Given the description of an element on the screen output the (x, y) to click on. 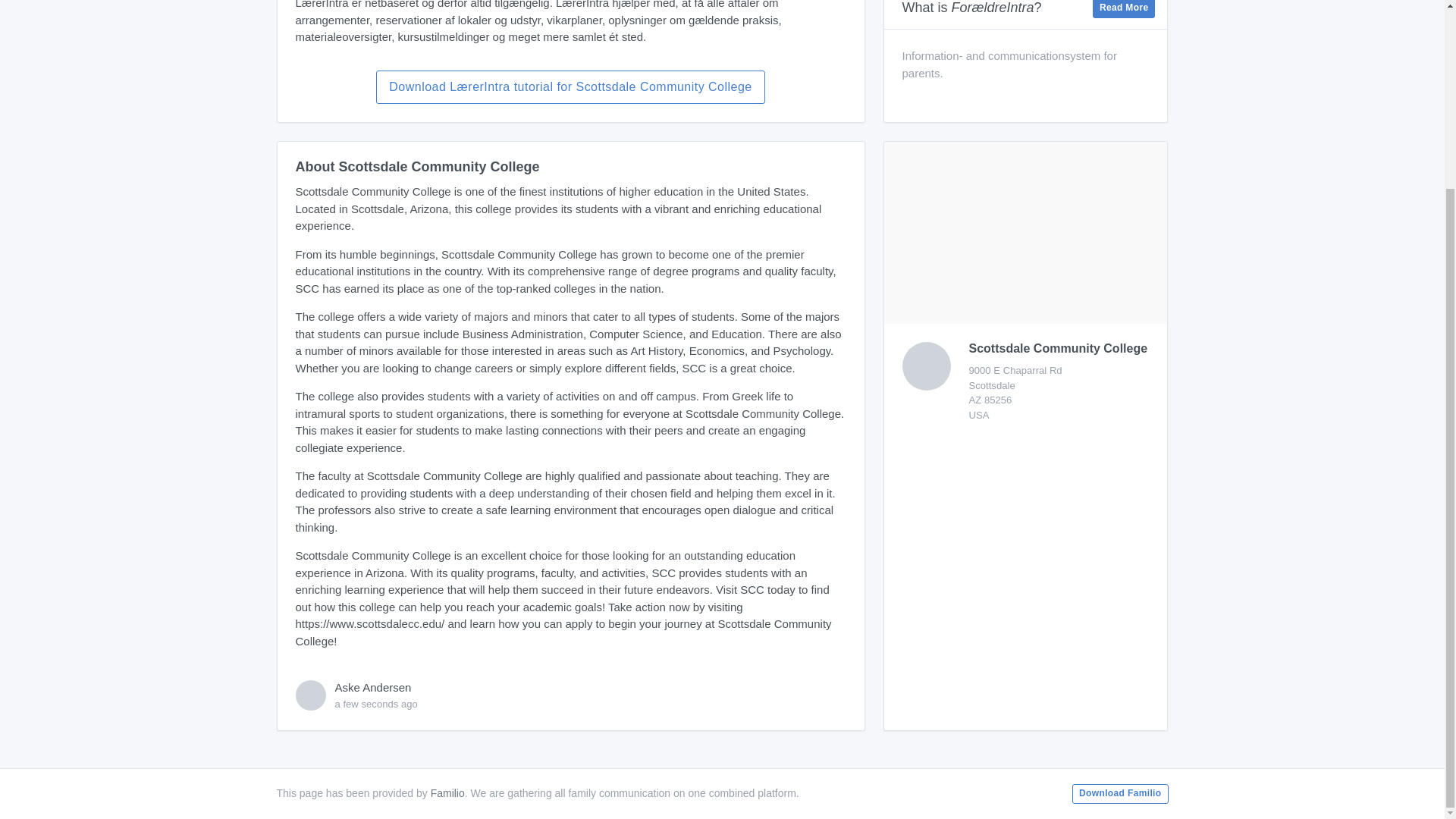
Read More (1124, 9)
Familio (447, 793)
Download Familio (1119, 793)
